Given the description of an element on the screen output the (x, y) to click on. 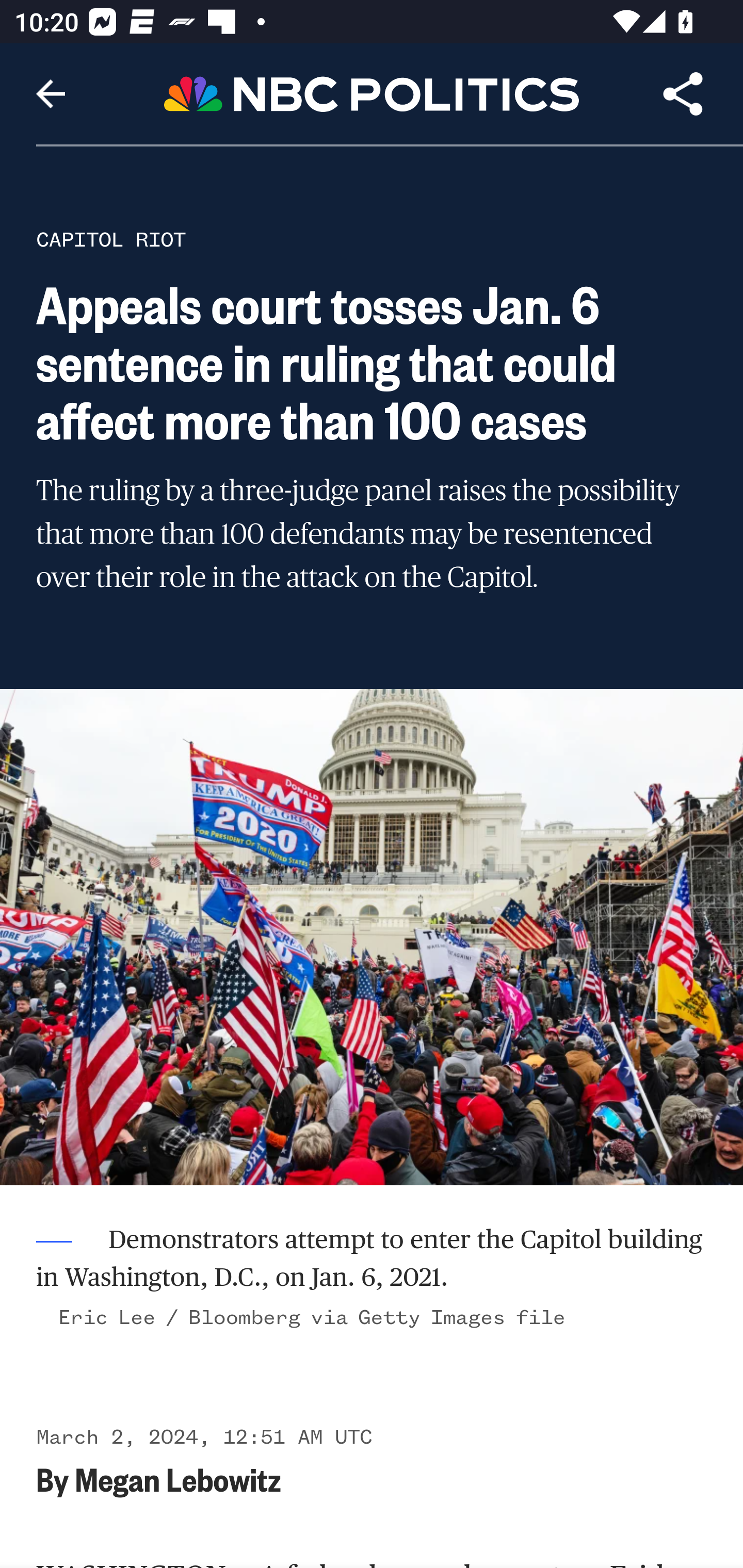
Navigate up (50, 93)
Share Article, button (683, 94)
Header, NBC Politics (371, 93)
CAPITOL RIOT (110, 239)
